Given the description of an element on the screen output the (x, y) to click on. 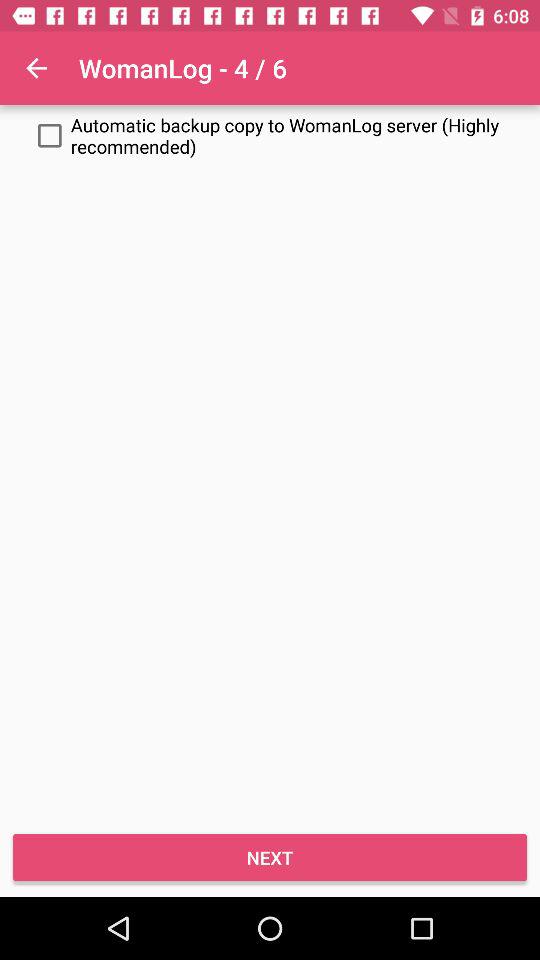
scroll until the next item (269, 857)
